Given the description of an element on the screen output the (x, y) to click on. 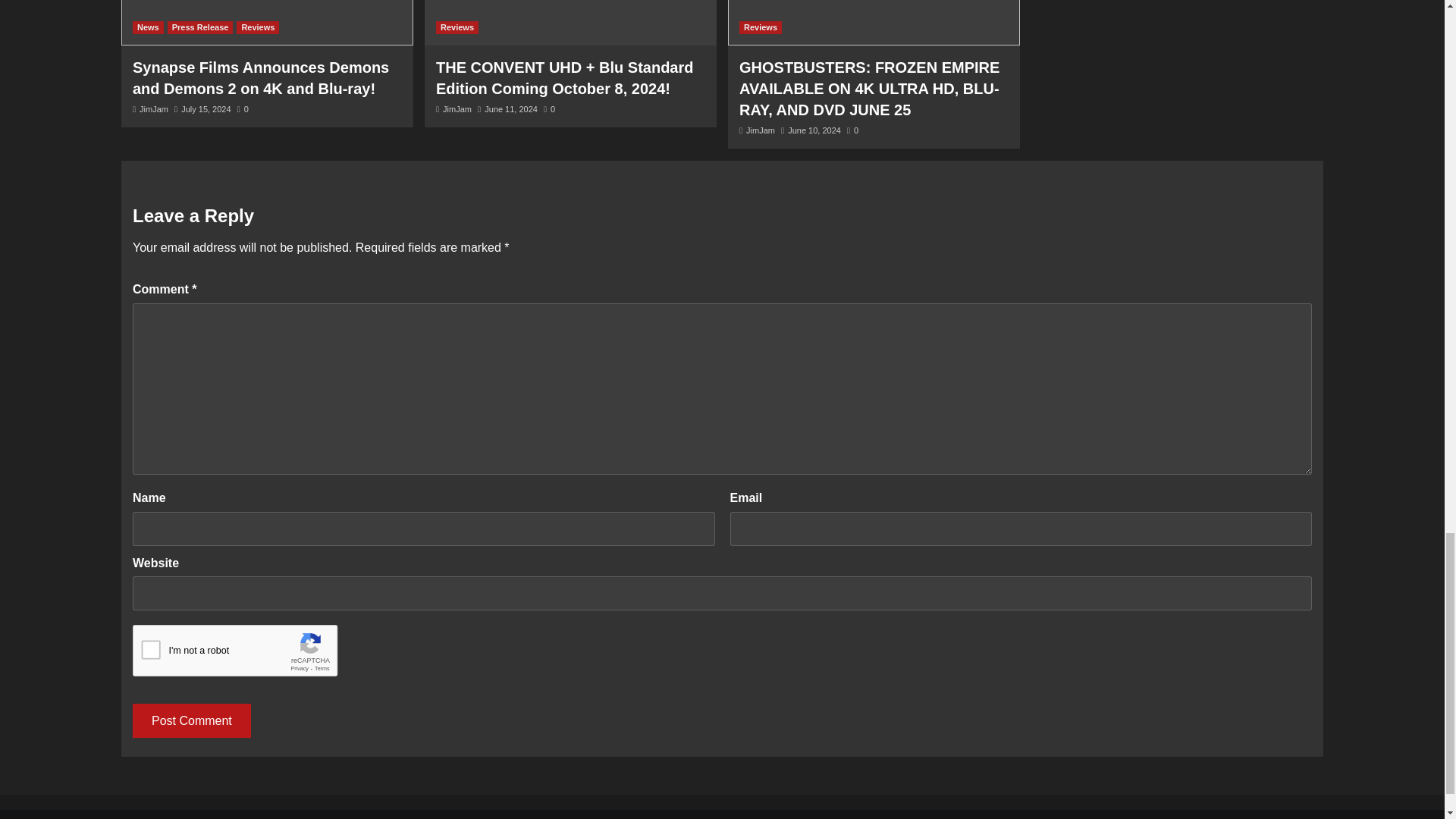
June 10, 2024 (814, 130)
Reviews (760, 27)
0 (242, 108)
0 (548, 108)
JimJam (153, 108)
Post Comment (191, 720)
JimJam (456, 108)
reCAPTCHA (247, 653)
0 (853, 130)
Press Release (199, 27)
